Given the description of an element on the screen output the (x, y) to click on. 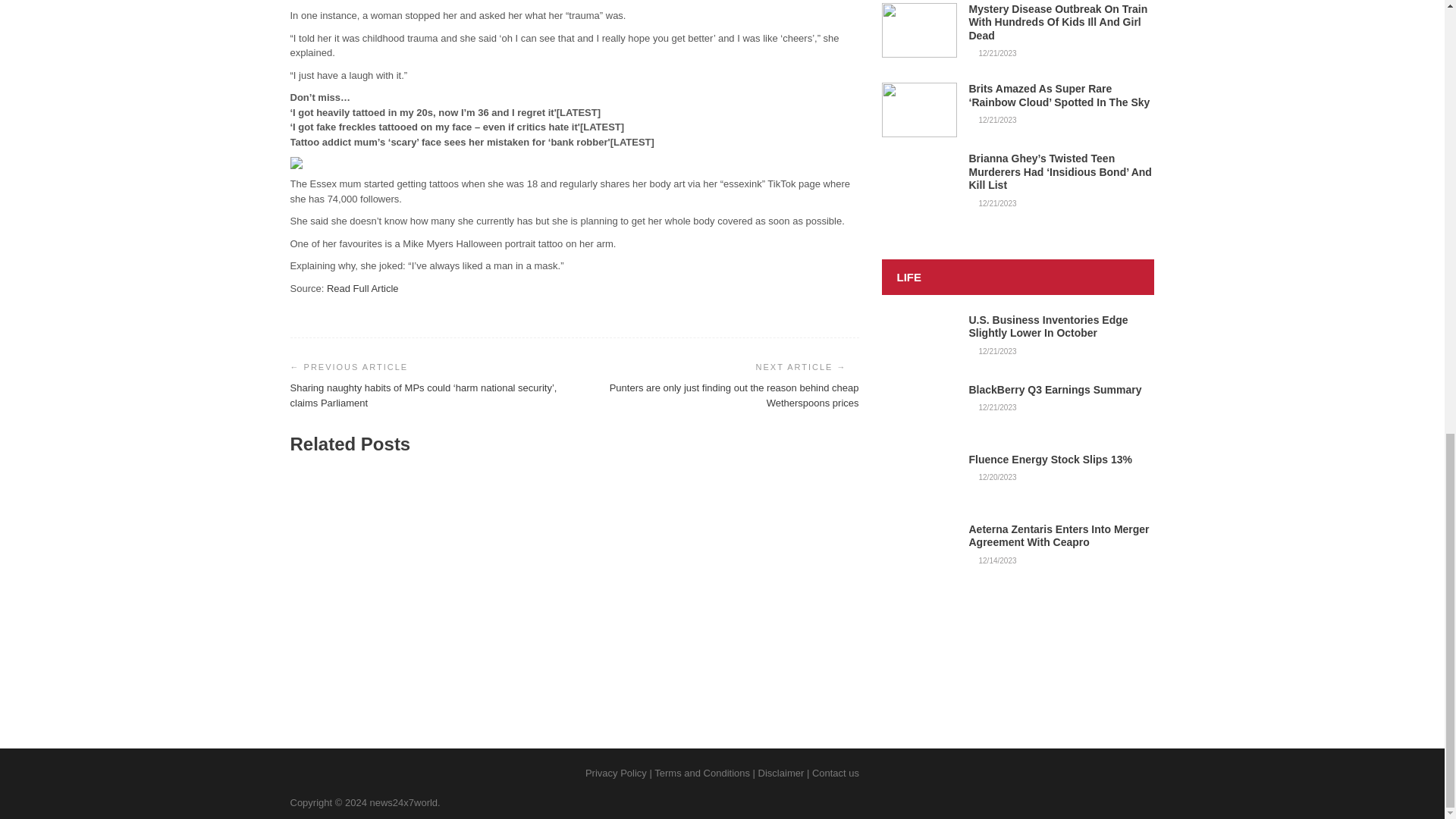
news24x7world (403, 802)
Mediabest (518, 657)
Mediabest (710, 657)
Mediabest (323, 657)
Read Full Article (362, 287)
Horror As Boy, 4, Knifed To Death In Home As Woman Arrested (767, 626)
